Given the description of an element on the screen output the (x, y) to click on. 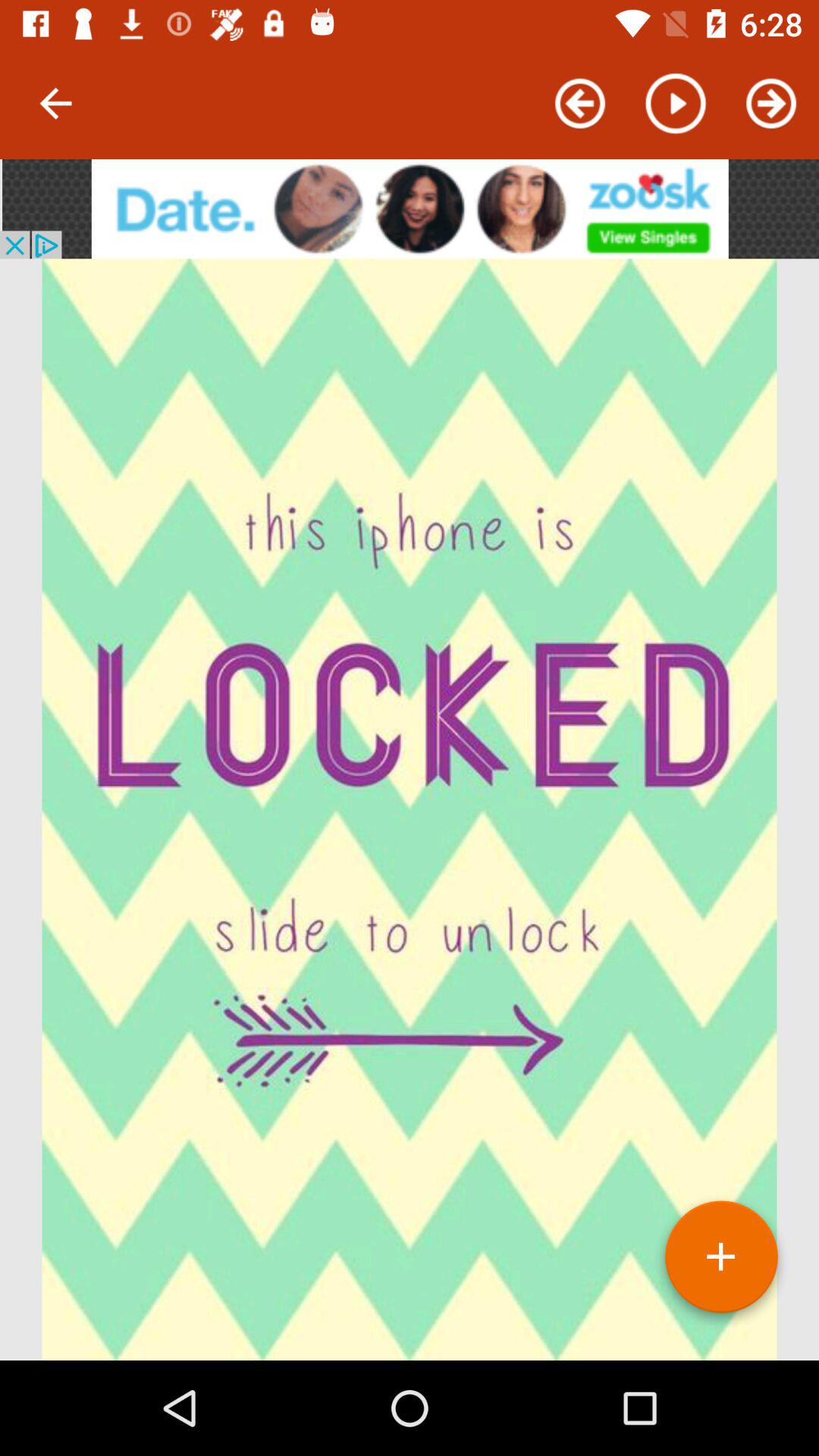
advertisement (409, 208)
